Given the description of an element on the screen output the (x, y) to click on. 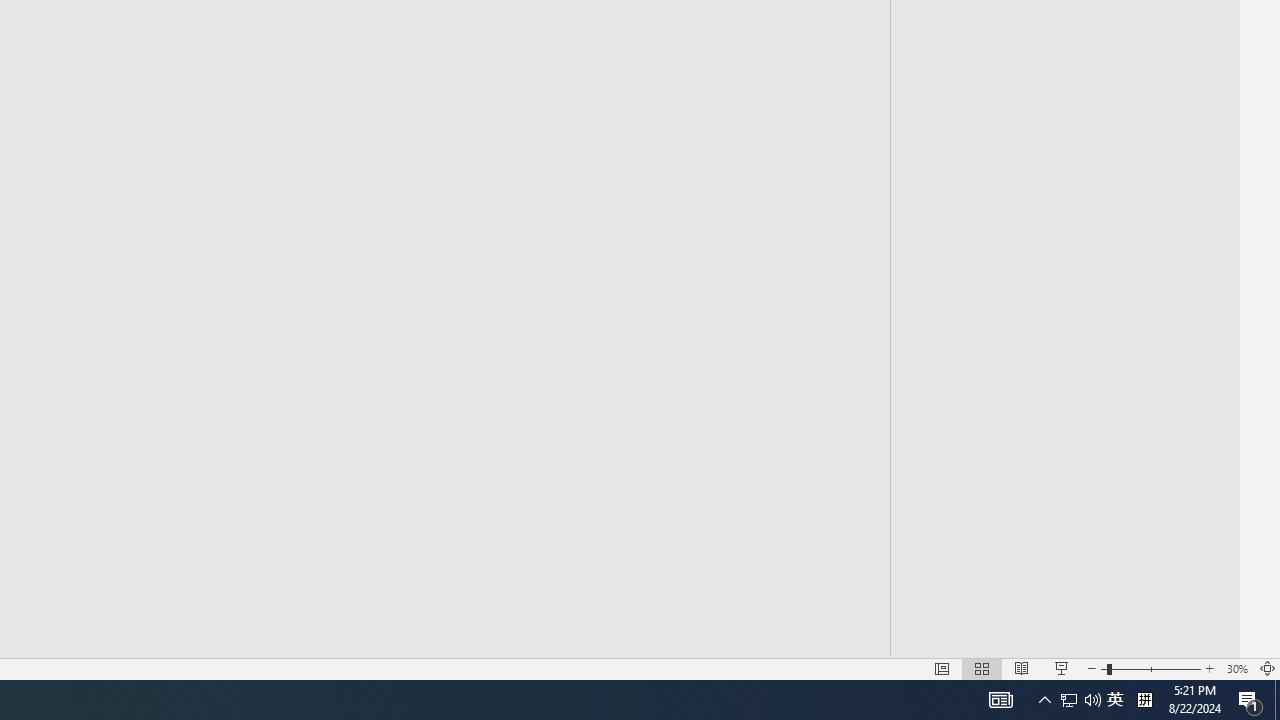
Zoom 30% (1236, 668)
